Given the description of an element on the screen output the (x, y) to click on. 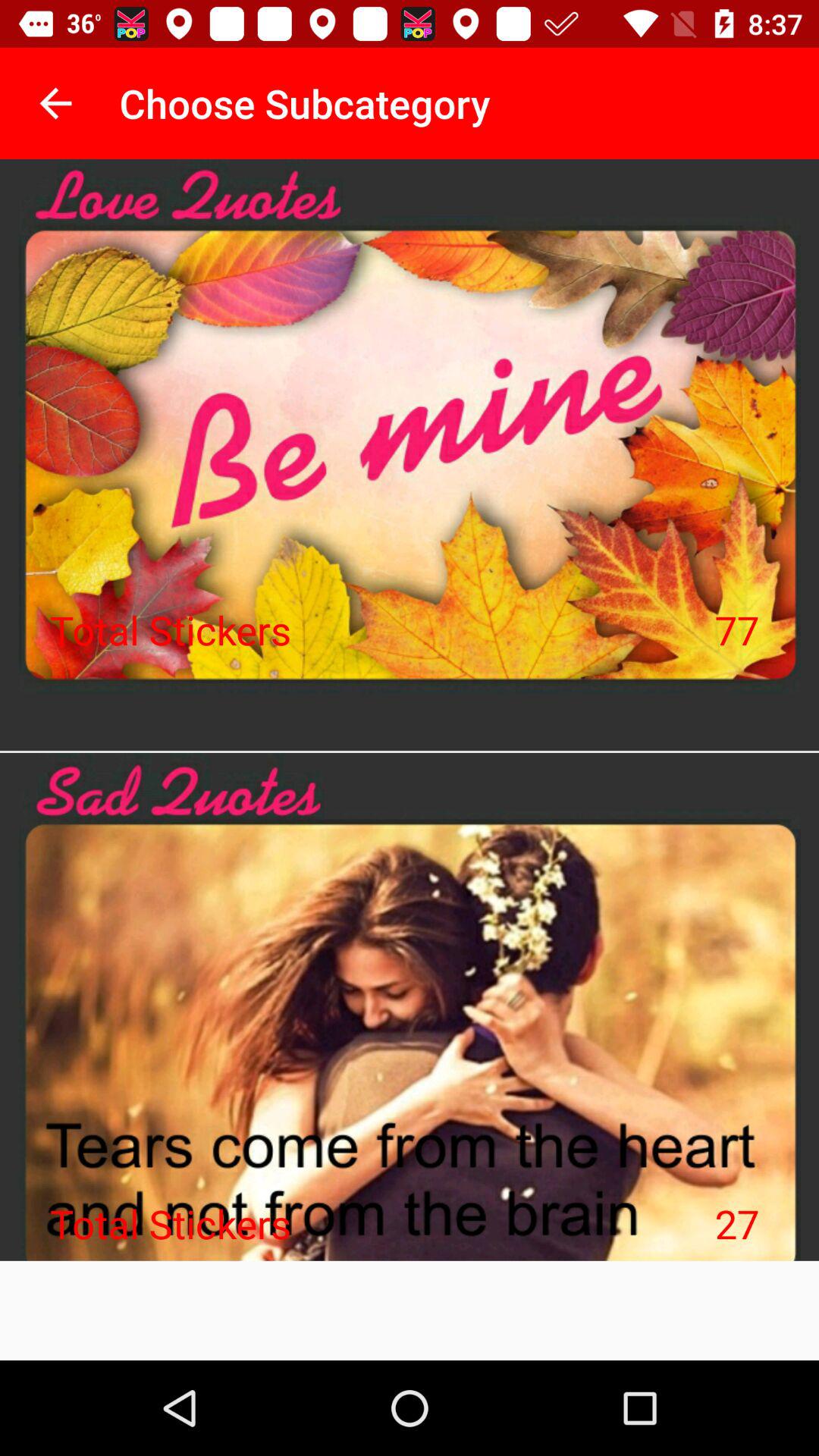
launch the 27 item (736, 1223)
